Given the description of an element on the screen output the (x, y) to click on. 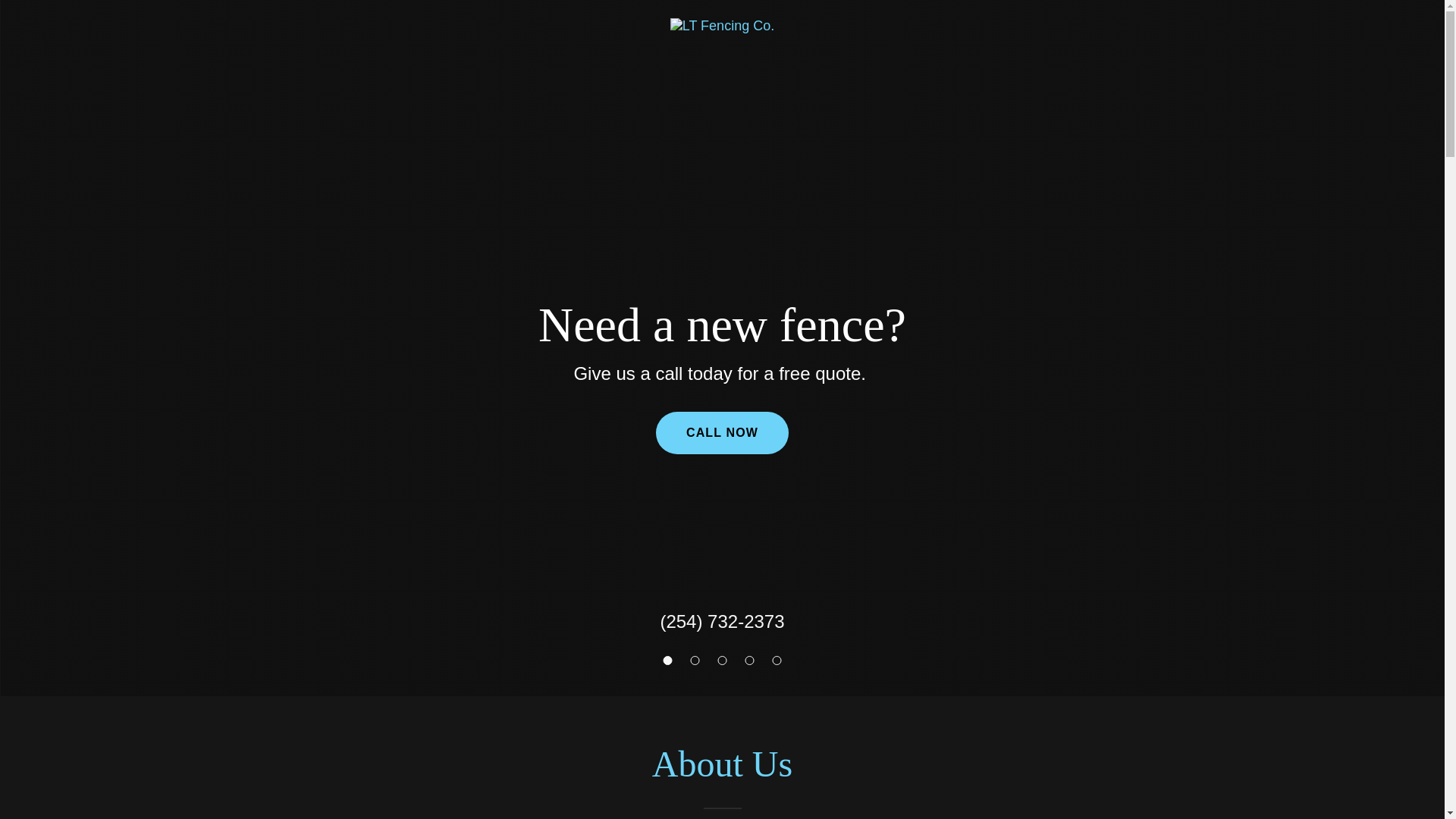
(254) 732-2373 Element type: text (721, 621)
CALL NOW Element type: text (721, 432)
LT Fencing Co.  Element type: hover (721, 24)
